Given the description of an element on the screen output the (x, y) to click on. 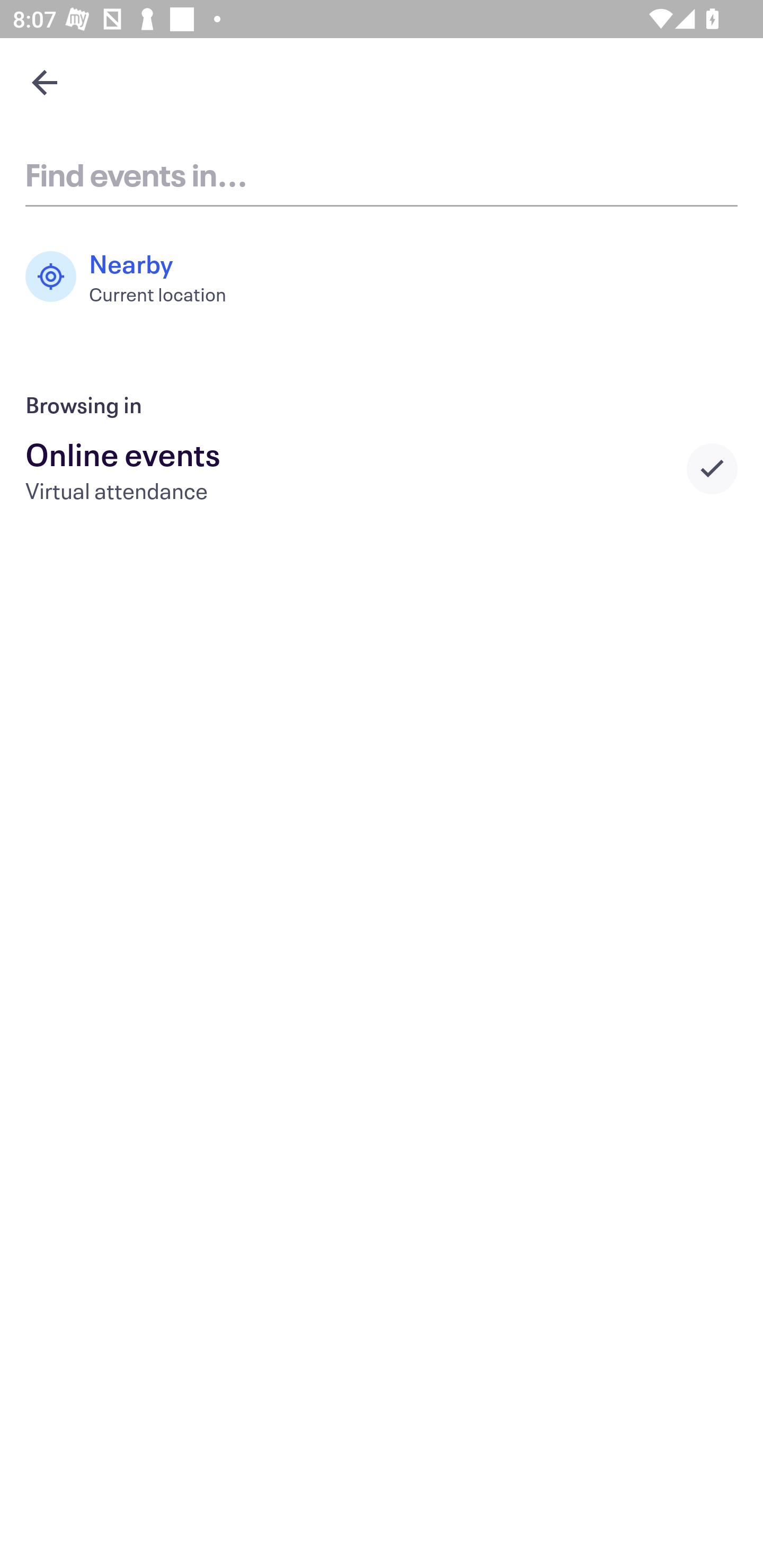
Navigate up (44, 82)
Find events in... (381, 173)
Nearby Current location (135, 276)
Online events Virtual attendance Selected city (381, 468)
